Given the description of an element on the screen output the (x, y) to click on. 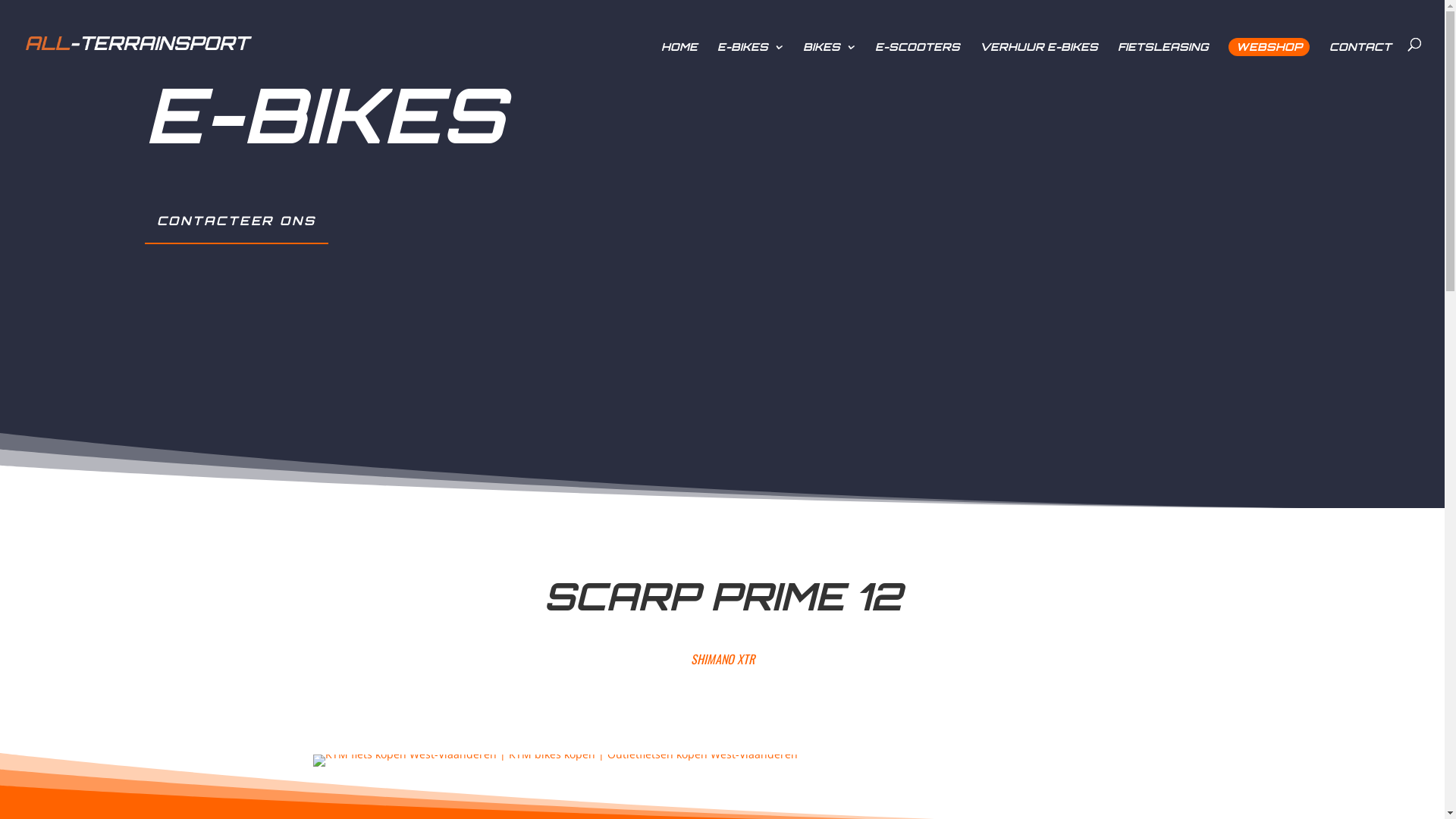
FIETSLEASING Element type: text (1162, 54)
CONTACTEER ONS Element type: text (235, 220)
HOME Element type: text (679, 54)
SCARP PRIME Element type: hover (554, 753)
BIKES Element type: text (829, 54)
E-BIKES Element type: text (750, 54)
WEBSHOP Element type: text (1268, 46)
E-SCOOTERS Element type: text (917, 54)
CONTACT Element type: text (1360, 54)
VERHUUR E-BIKES Element type: text (1038, 54)
